Given the description of an element on the screen output the (x, y) to click on. 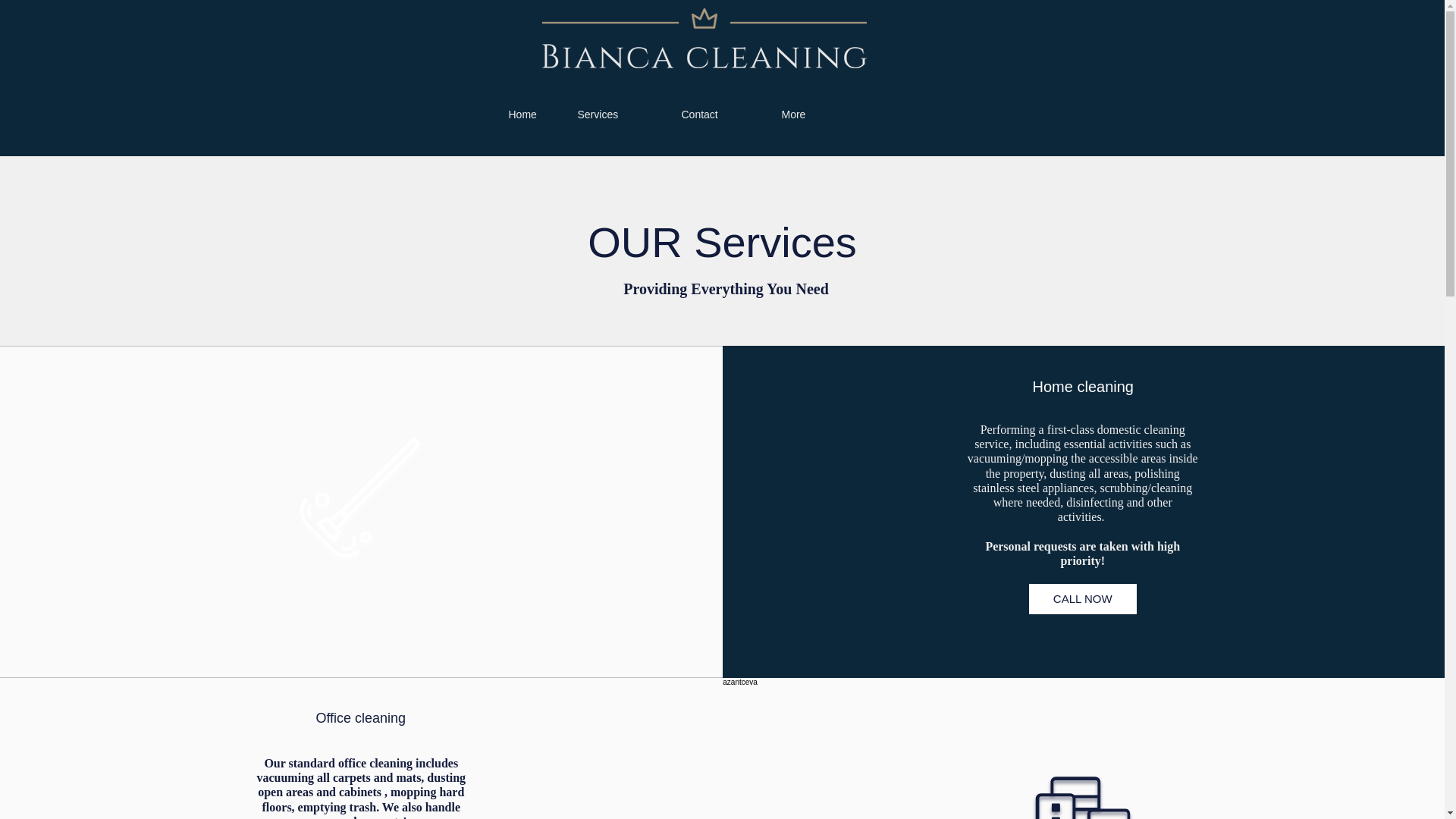
CALL NOW (1083, 598)
Contact (719, 114)
Homepage (703, 37)
Services (617, 114)
